Given the description of an element on the screen output the (x, y) to click on. 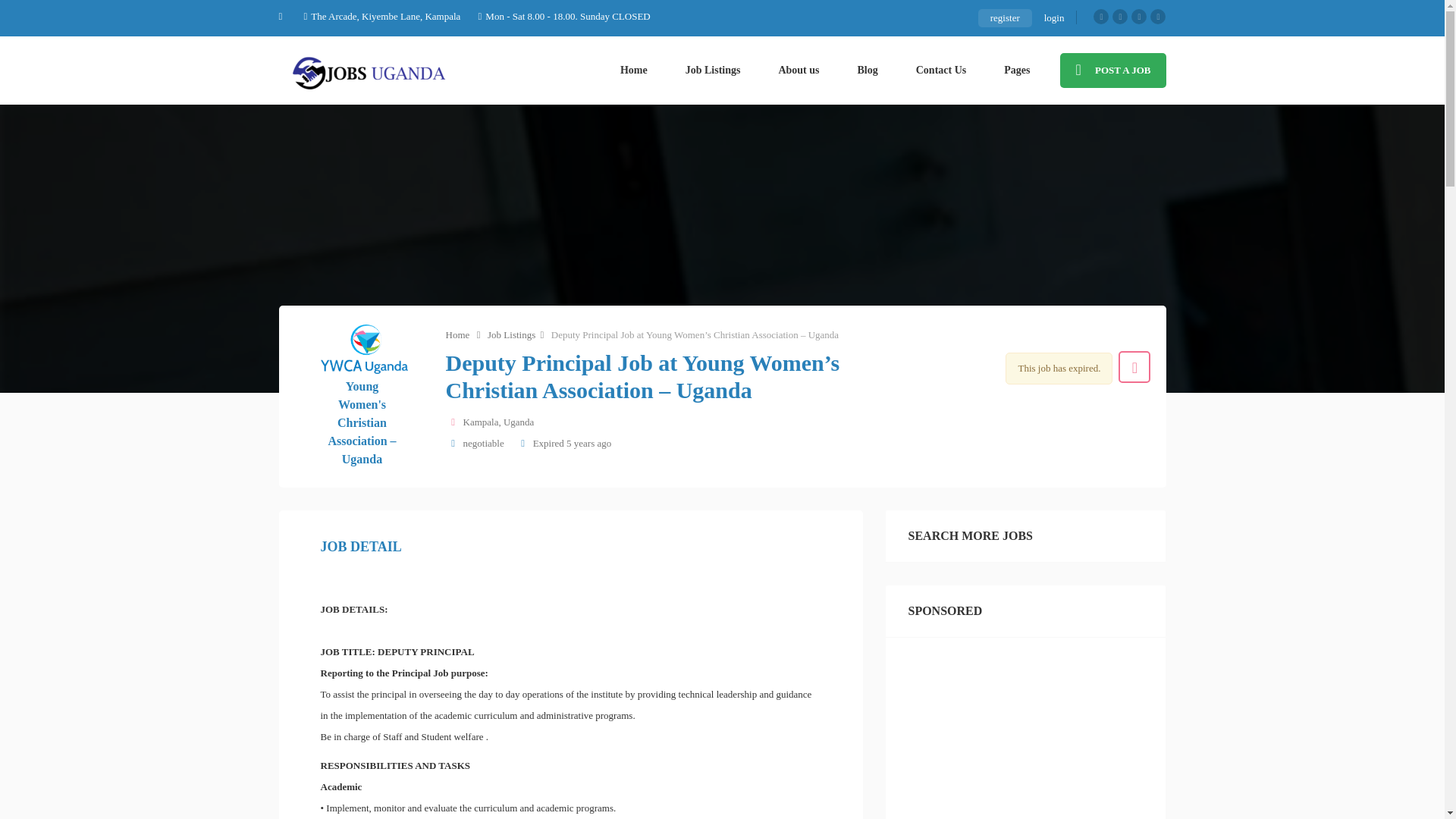
Linkedin (1158, 16)
login (1054, 18)
Home (633, 70)
Job Listings (713, 70)
register (1005, 18)
POST A JOB (1112, 70)
Contact Us (940, 70)
Pages (1016, 70)
Facebook (1100, 16)
About us (798, 70)
